Given the description of an element on the screen output the (x, y) to click on. 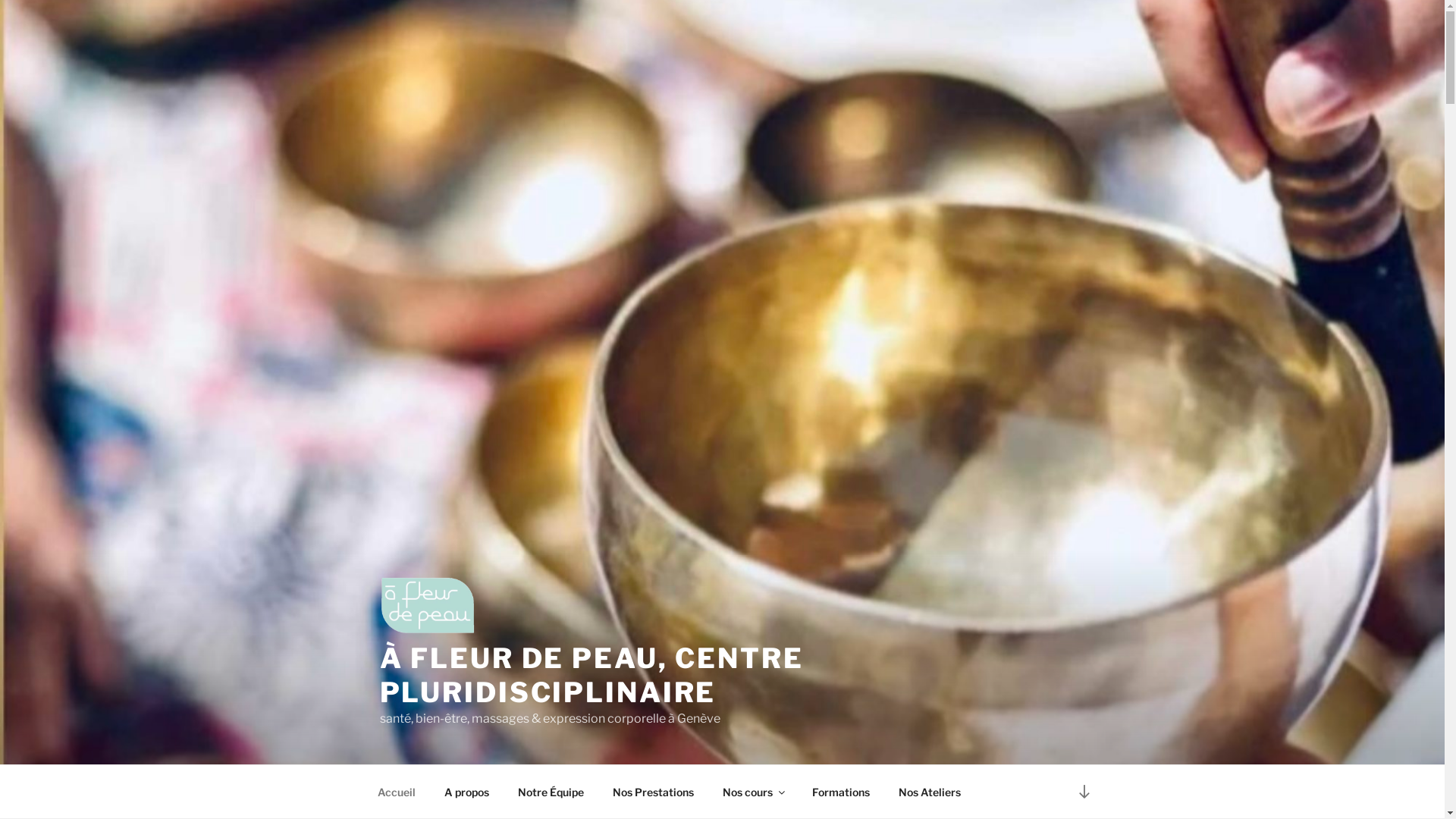
Nos cours Element type: text (753, 791)
A propos Element type: text (466, 791)
Nos Prestations Element type: text (652, 791)
Accueil Element type: text (396, 791)
Formations Element type: text (841, 791)
Nos Ateliers Element type: text (929, 791)
Descendre au contenu Element type: text (1083, 790)
